Given the description of an element on the screen output the (x, y) to click on. 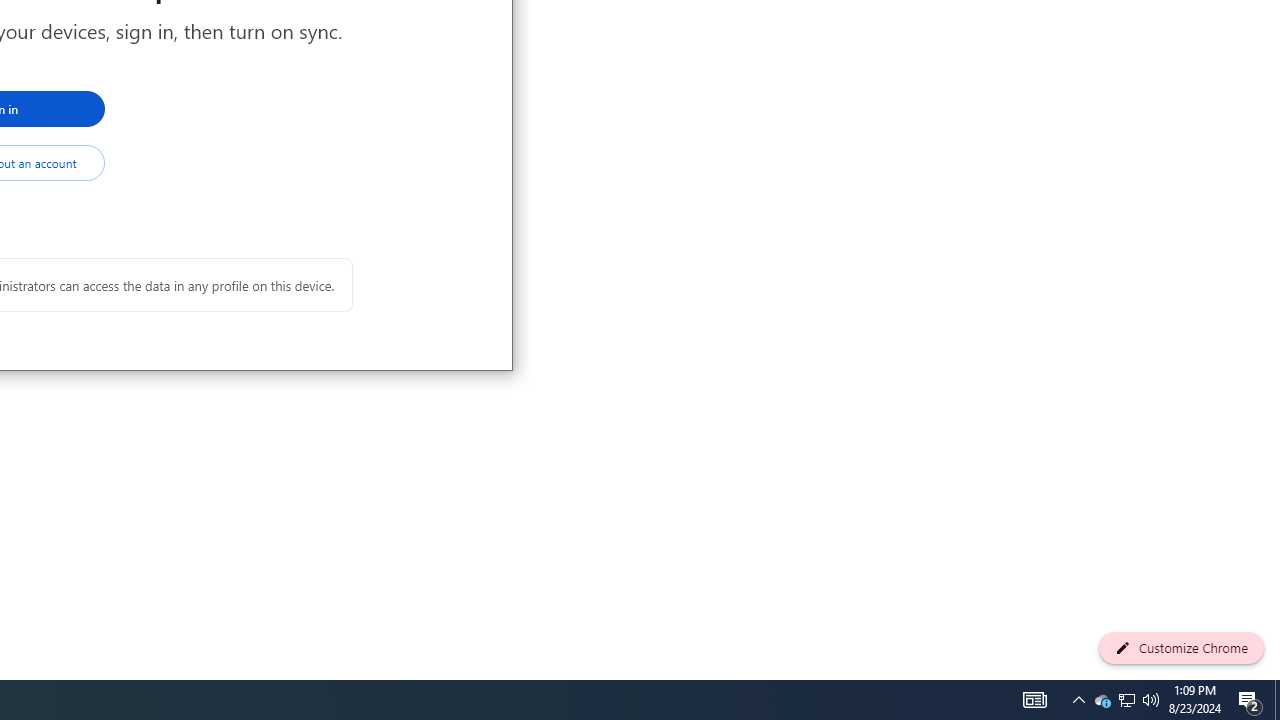
AutomationID: 4105 (1034, 699)
Show desktop (1126, 699)
Notification Chevron (1102, 699)
Customize Chrome (1277, 699)
Action Center, 2 new notifications (1078, 699)
Q2790: 100% (1181, 647)
User Promoted Notification Area (1250, 699)
